Given the description of an element on the screen output the (x, y) to click on. 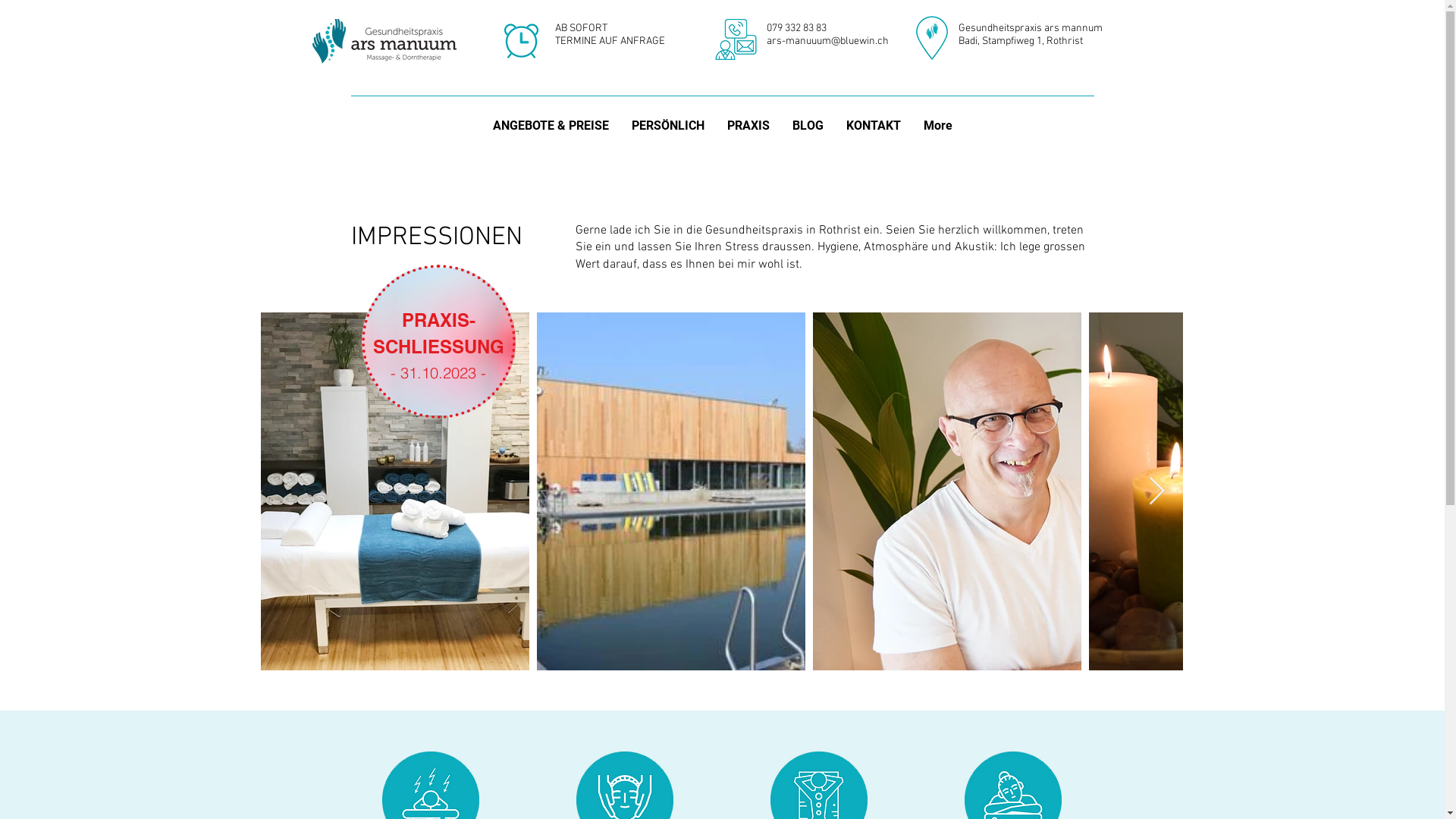
ars-manuuum@bluewin.ch Element type: text (826, 40)
ANGEBOTE & PREISE Element type: text (549, 139)
KONTAKT Element type: text (872, 139)
BLOG Element type: text (807, 139)
PRAXIS Element type: text (748, 139)
